Given the description of an element on the screen output the (x, y) to click on. 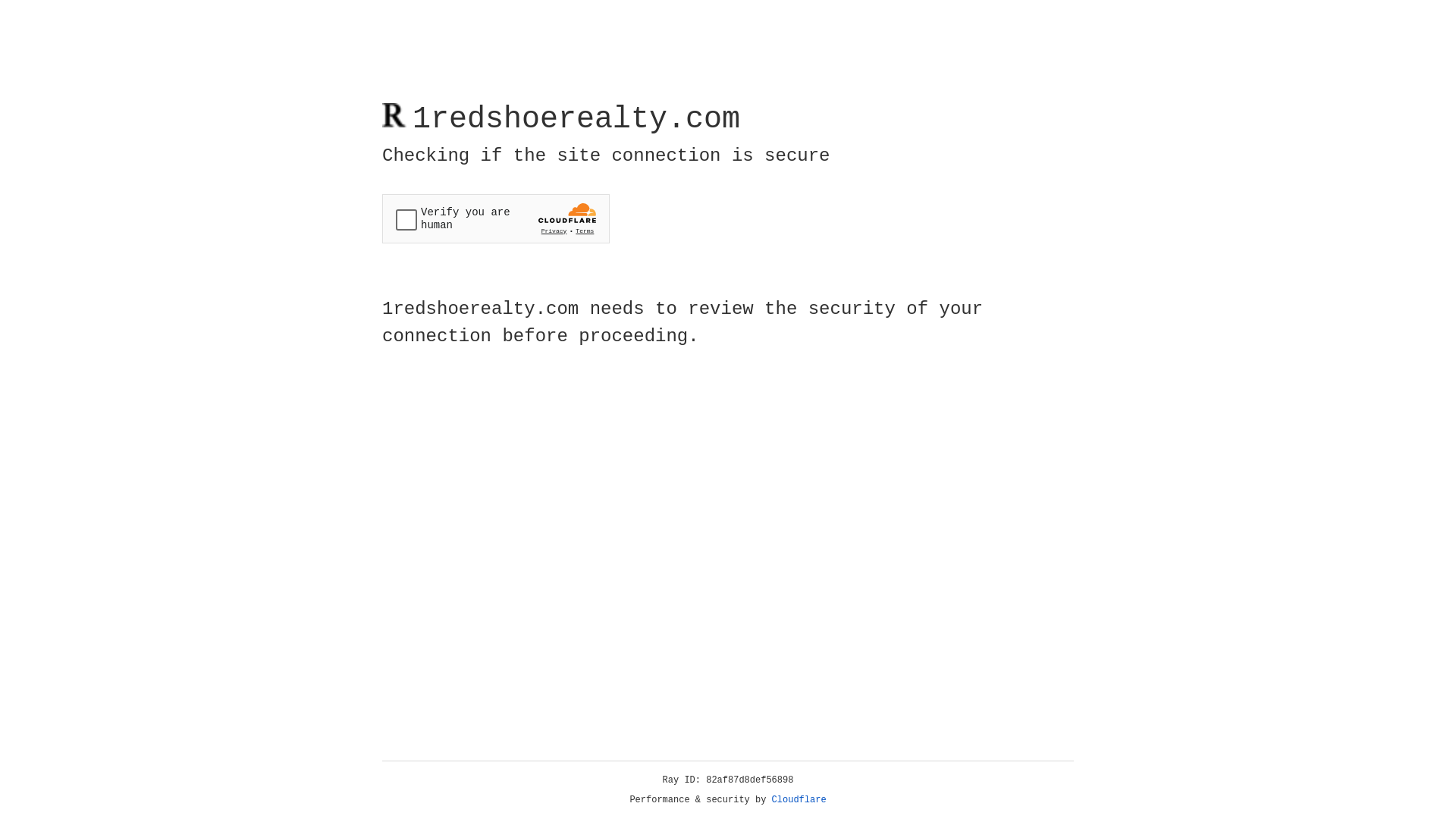
Cloudflare Element type: text (798, 799)
Widget containing a Cloudflare security challenge Element type: hover (495, 218)
